Given the description of an element on the screen output the (x, y) to click on. 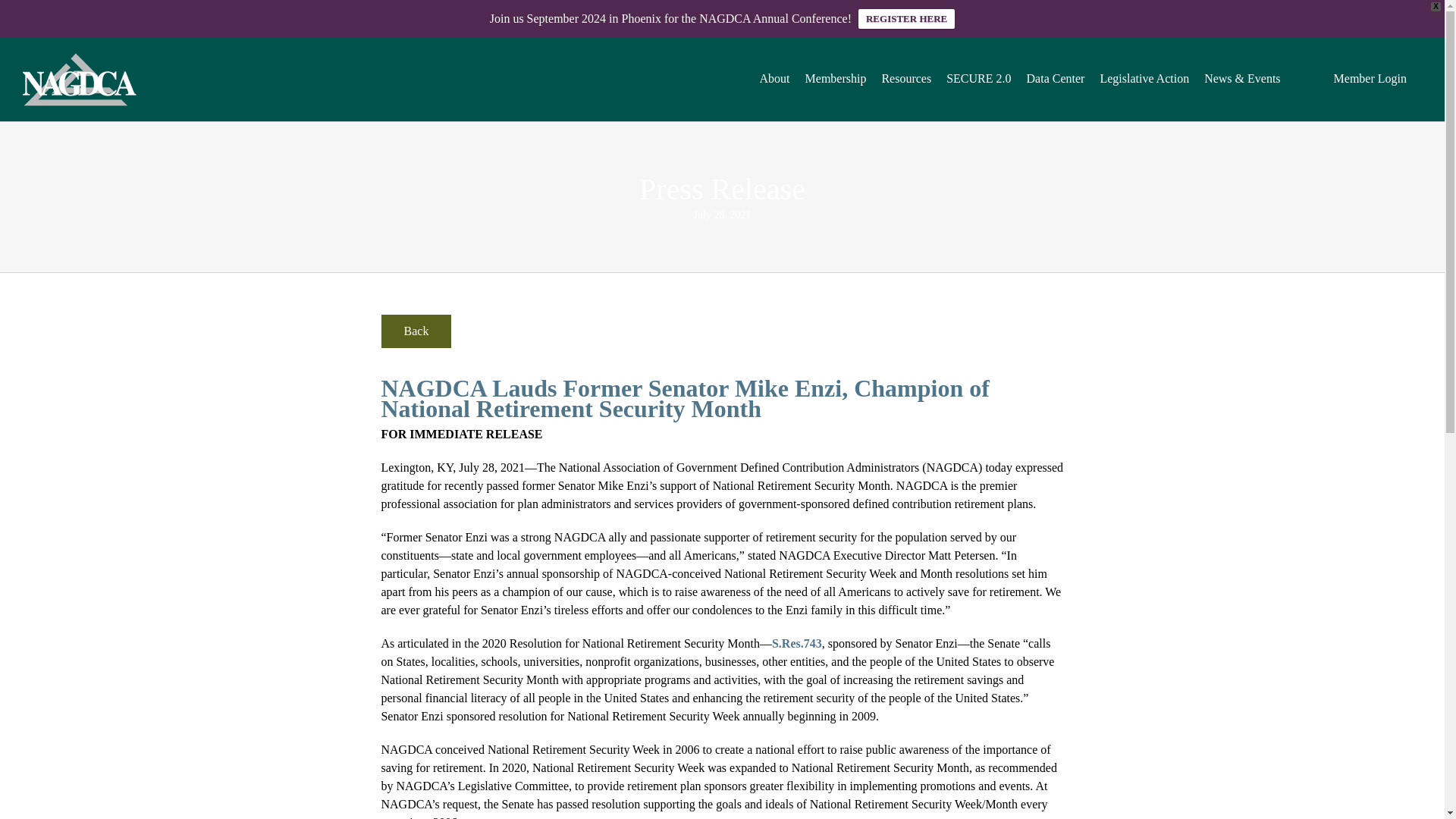
Data Center (1055, 76)
REGISTER HERE (907, 18)
Membership (835, 76)
SECURE 2.0 (978, 76)
